Given the description of an element on the screen output the (x, y) to click on. 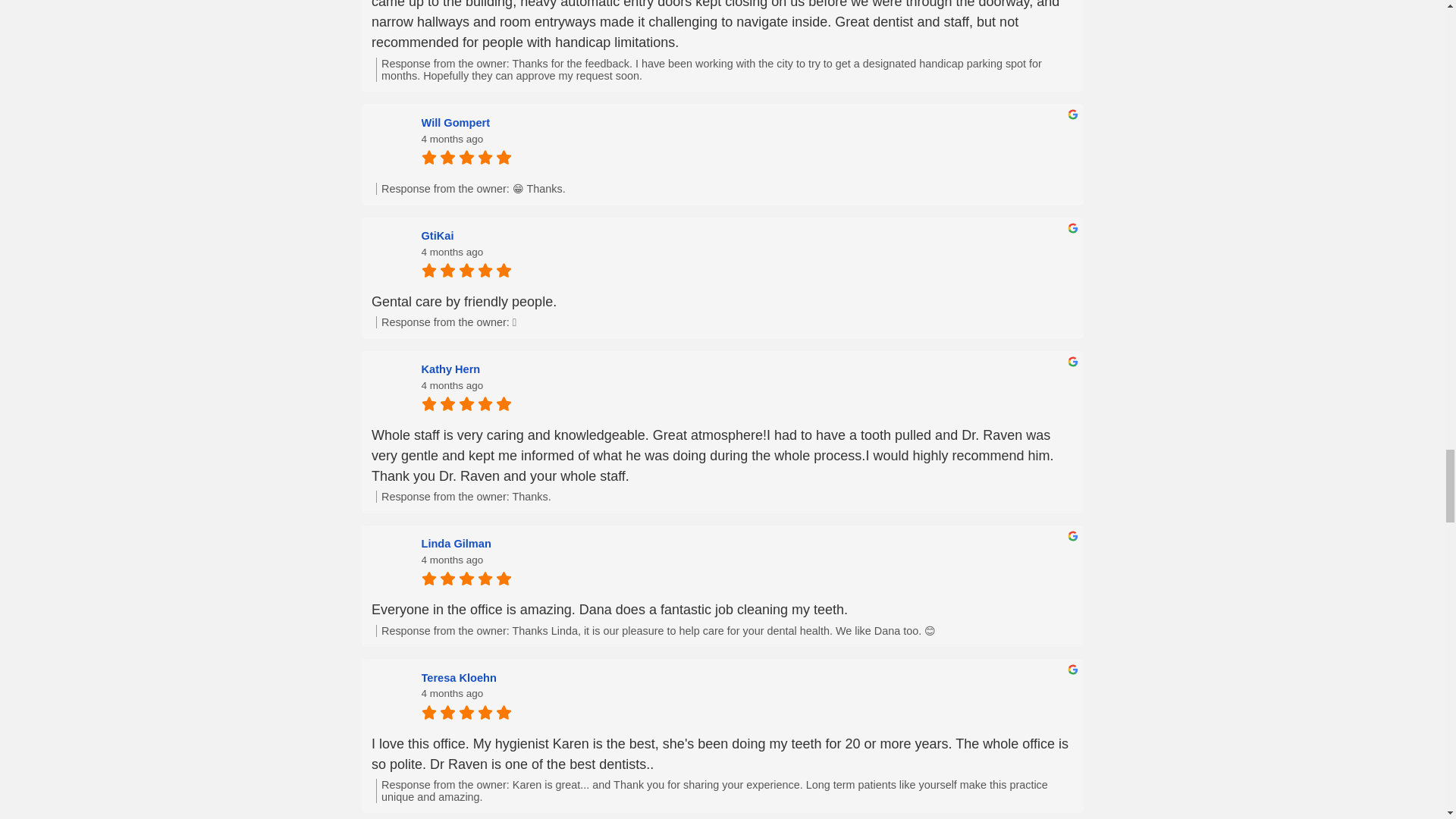
Gental care by friendly people. (722, 301)
Response from the owner: Thanks. (724, 496)
